Given the description of an element on the screen output the (x, y) to click on. 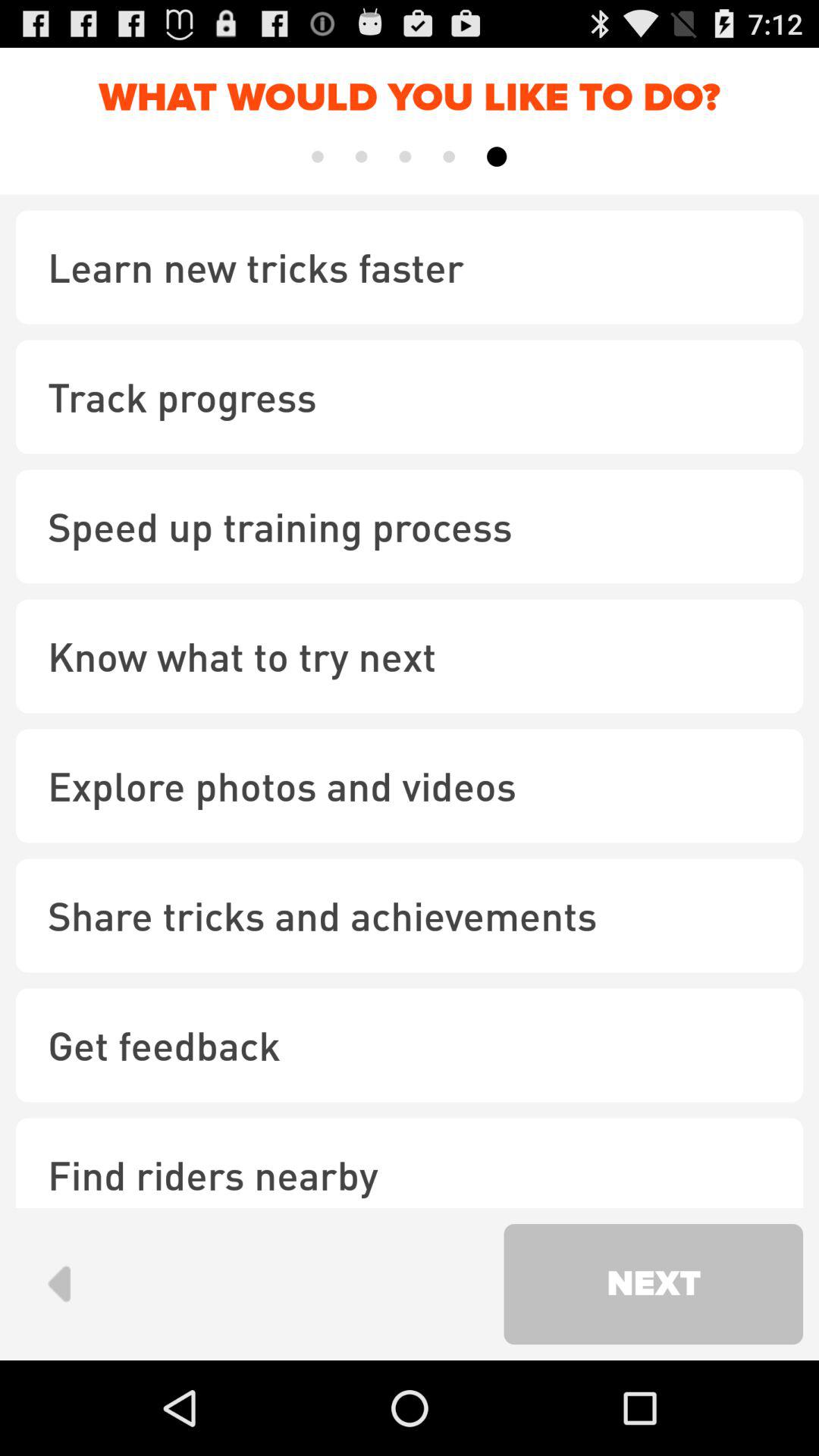
launch the checkbox above find riders nearby icon (409, 1045)
